Given the description of an element on the screen output the (x, y) to click on. 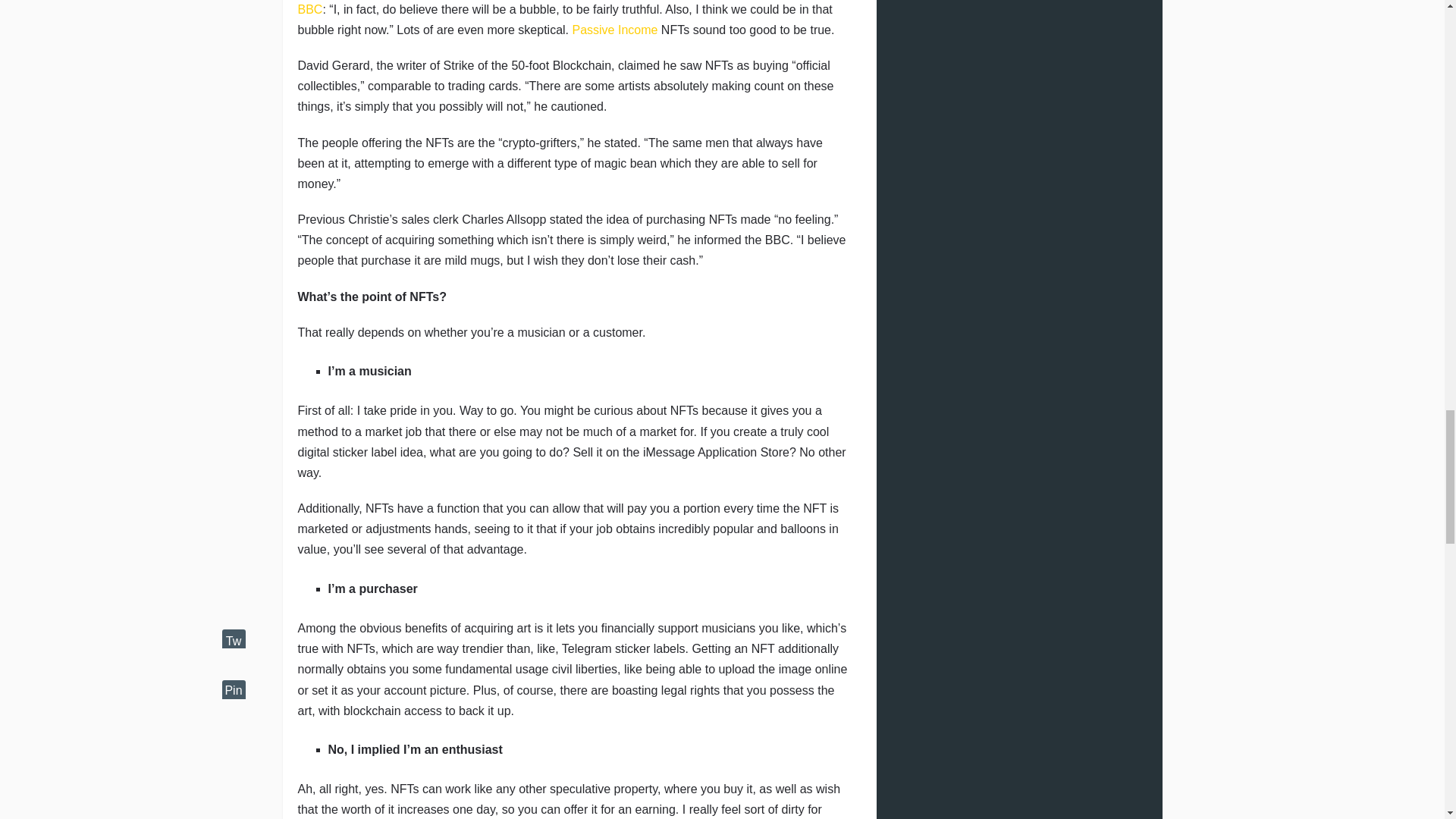
Passive Income (615, 29)
